Given the description of an element on the screen output the (x, y) to click on. 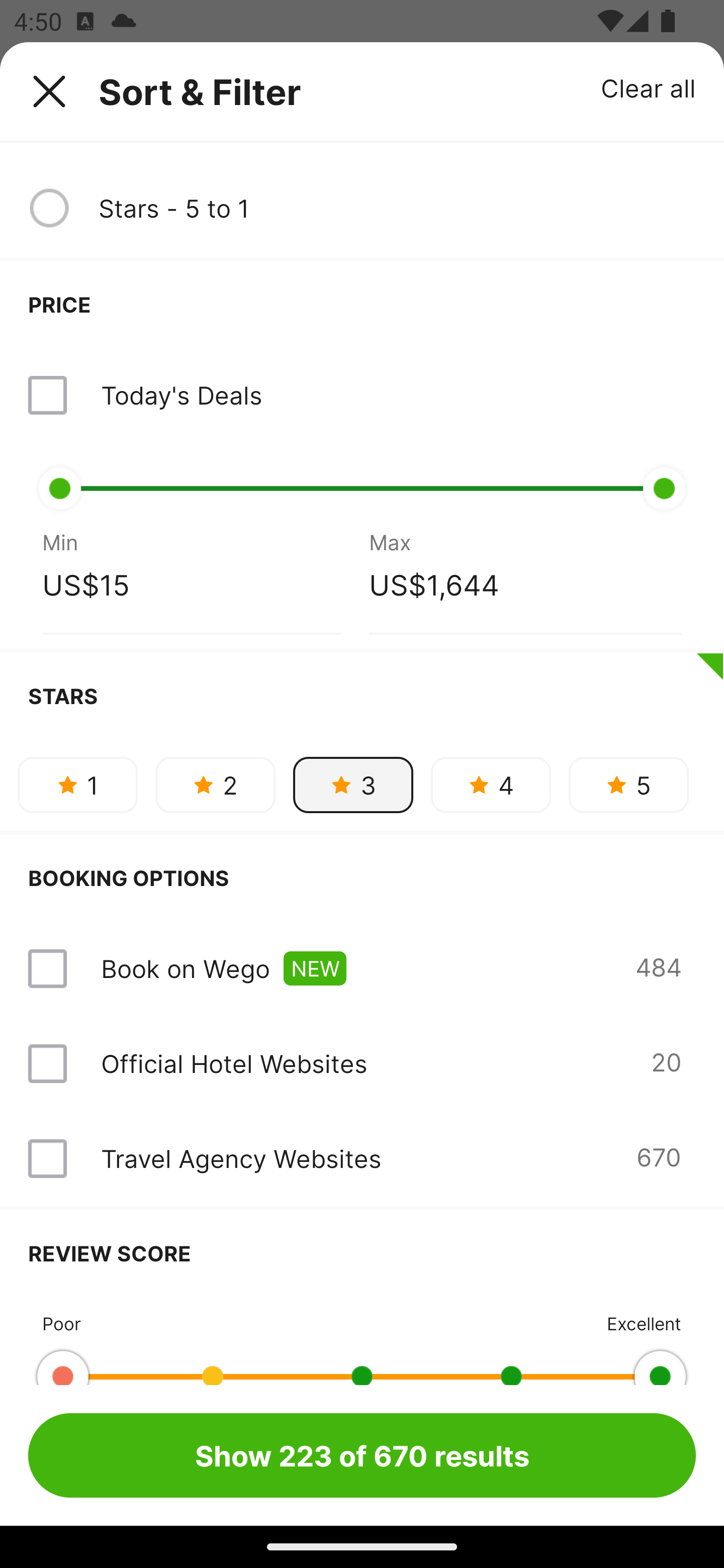
Clear all (648, 87)
Stars - 5 to 1 (396, 207)
Today's Deals (362, 395)
Today's Deals (181, 394)
1 (77, 785)
2 (214, 785)
3 (352, 785)
4 (491, 785)
5 (627, 785)
Book on Wego NEW 484 (362, 968)
Book on Wego (184, 968)
Official Hotel Websites 20 (362, 1063)
Official Hotel Websites (233, 1062)
Travel Agency Websites 670 (362, 1158)
Travel Agency Websites (240, 1158)
Poor Excellent (362, 1340)
Show 223 of 670 results (361, 1454)
